Given the description of an element on the screen output the (x, y) to click on. 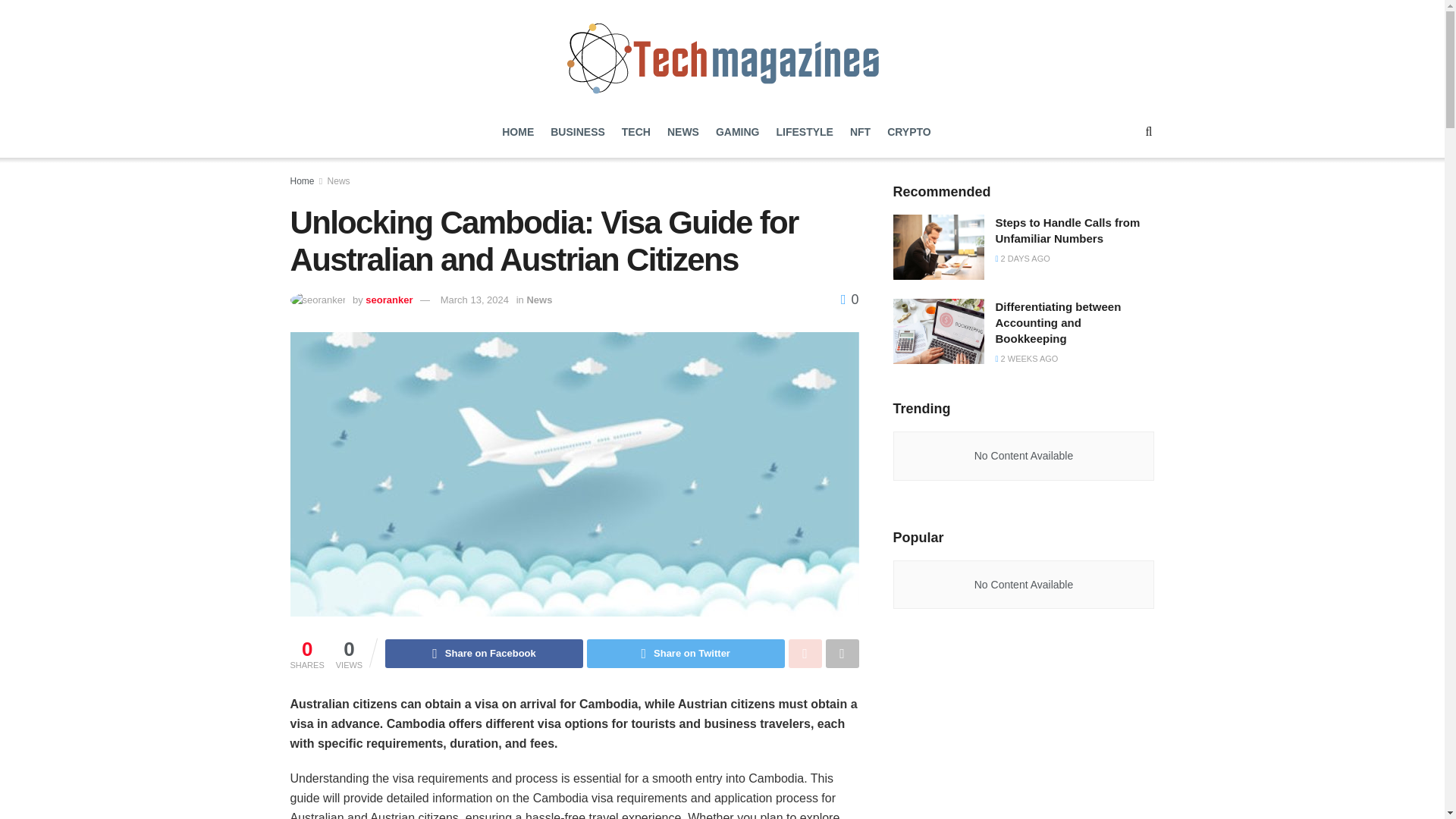
Home (301, 181)
0 (850, 299)
seoranker (388, 299)
Share on Twitter (685, 653)
Share on Facebook (484, 653)
HOME (518, 132)
NFT (860, 132)
News (338, 181)
CRYPTO (908, 132)
News (538, 299)
TECH (635, 132)
BUSINESS (577, 132)
LIFESTYLE (804, 132)
GAMING (738, 132)
March 13, 2024 (474, 299)
